Given the description of an element on the screen output the (x, y) to click on. 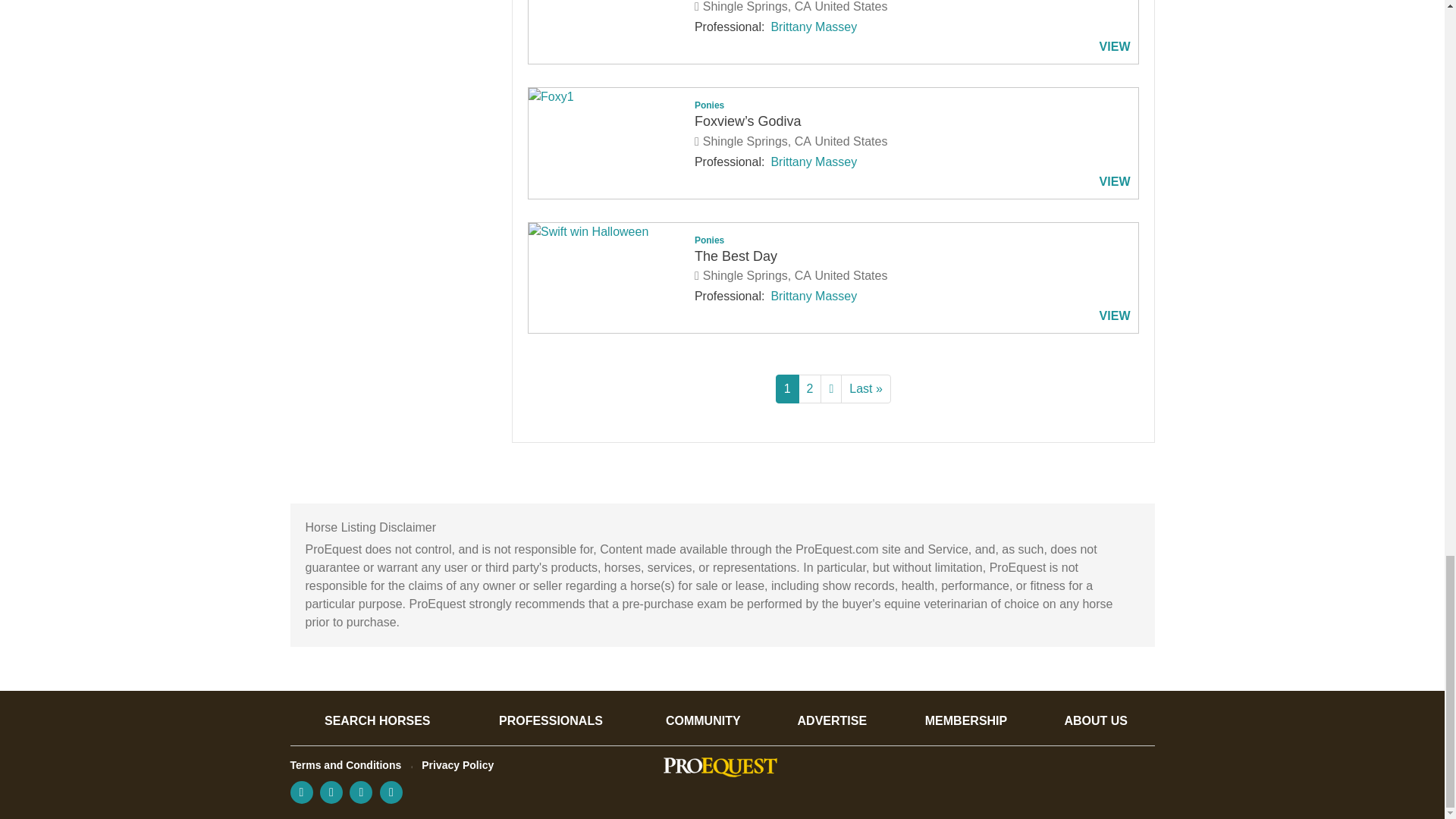
Swift win Halloween  (607, 231)
Home (720, 767)
Go to last page (866, 388)
Foxy1 (607, 96)
